Given the description of an element on the screen output the (x, y) to click on. 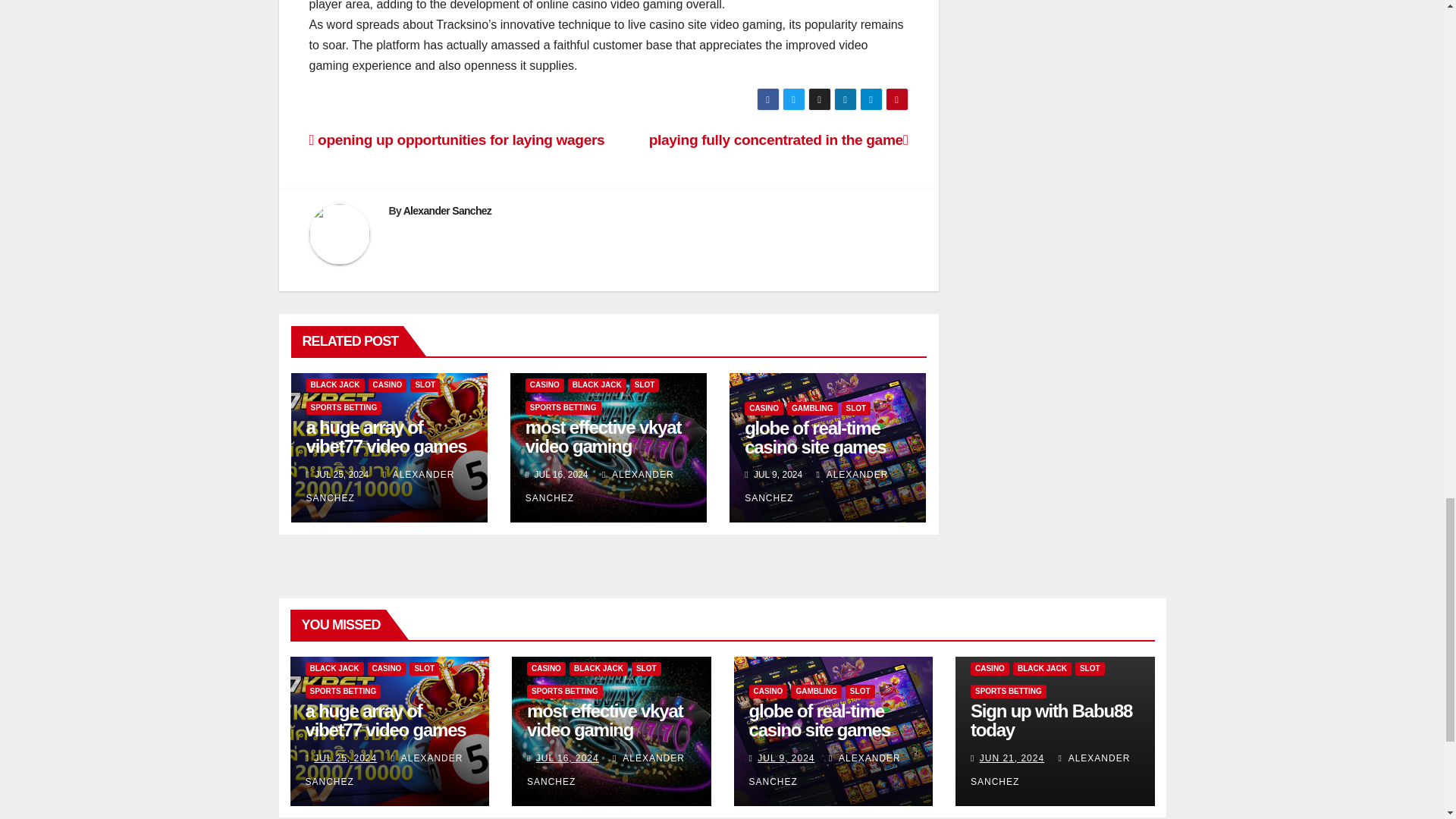
ALEXANDER SANCHEZ (379, 486)
CASINO (387, 385)
CASINO (544, 385)
BLACK JACK (596, 385)
Permalink to: globe of real-time casino site games (814, 437)
Permalink to: a huge array of vibet77 video games t (384, 730)
Permalink to: Sign up with Babu88 today (1051, 720)
SPORTS BETTING (343, 407)
BLACK JACK (335, 385)
Permalink to: most effective vkyat video gaming experience (604, 730)
